Given the description of an element on the screen output the (x, y) to click on. 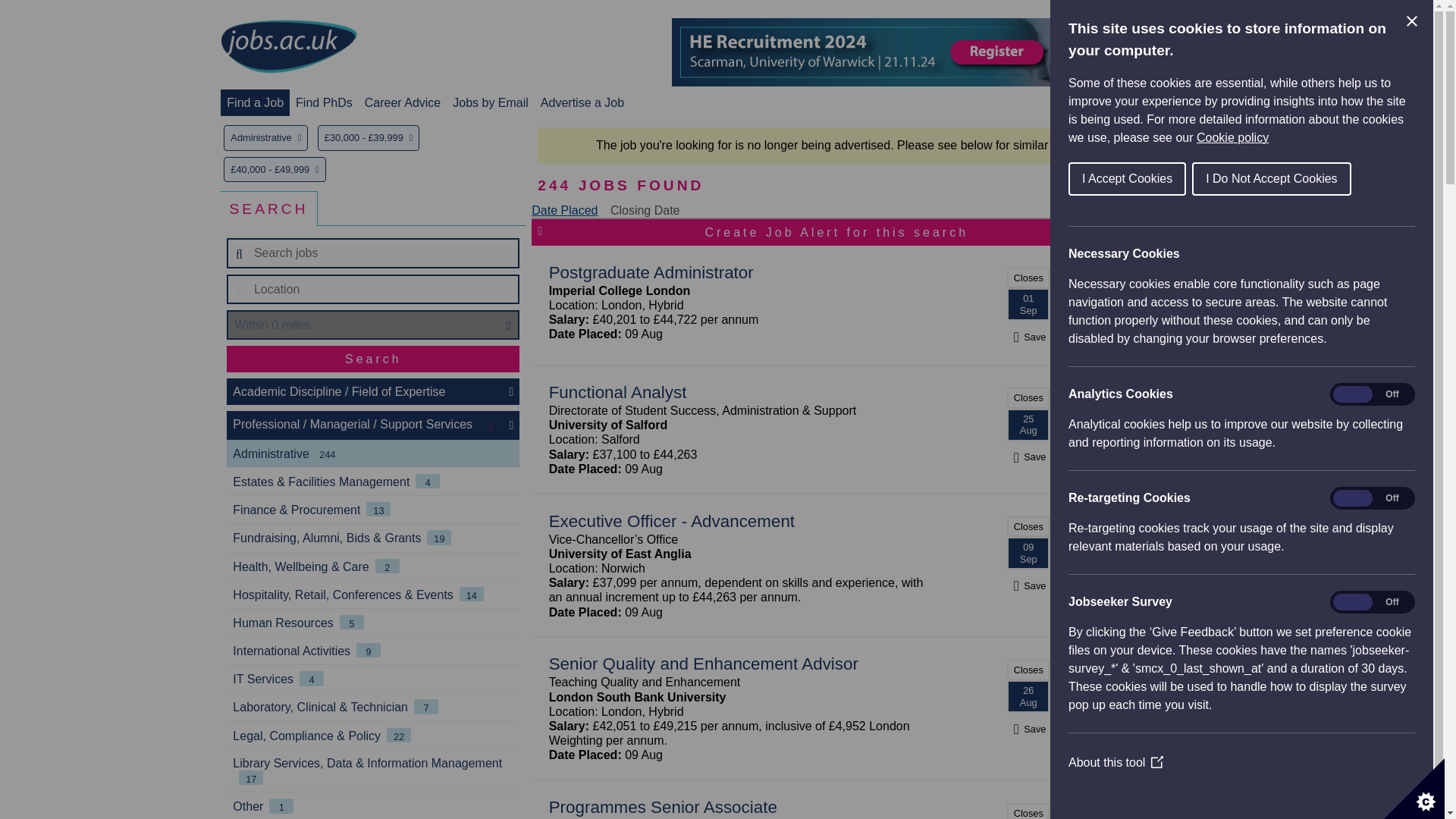
Create Job Alert for this search (836, 232)
Your Account (1106, 102)
Advertise a Job (582, 102)
Jobs by Email (490, 102)
home page (288, 47)
Save job (1027, 336)
Find a Job (255, 102)
Recruiters (1189, 102)
Save job (1027, 728)
I Accept Cookies (1325, 178)
